Given the description of an element on the screen output the (x, y) to click on. 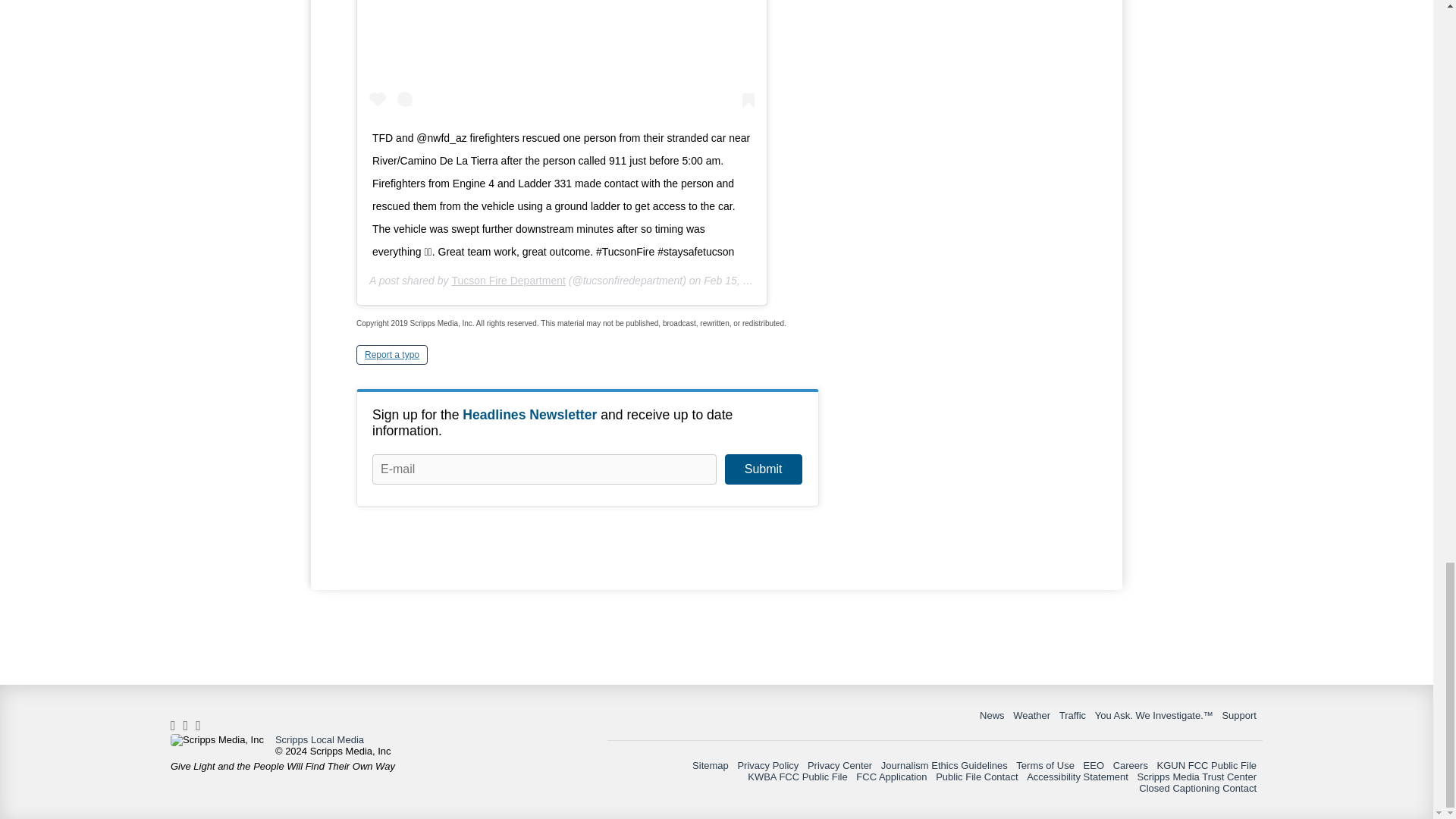
Submit (763, 469)
